Given the description of an element on the screen output the (x, y) to click on. 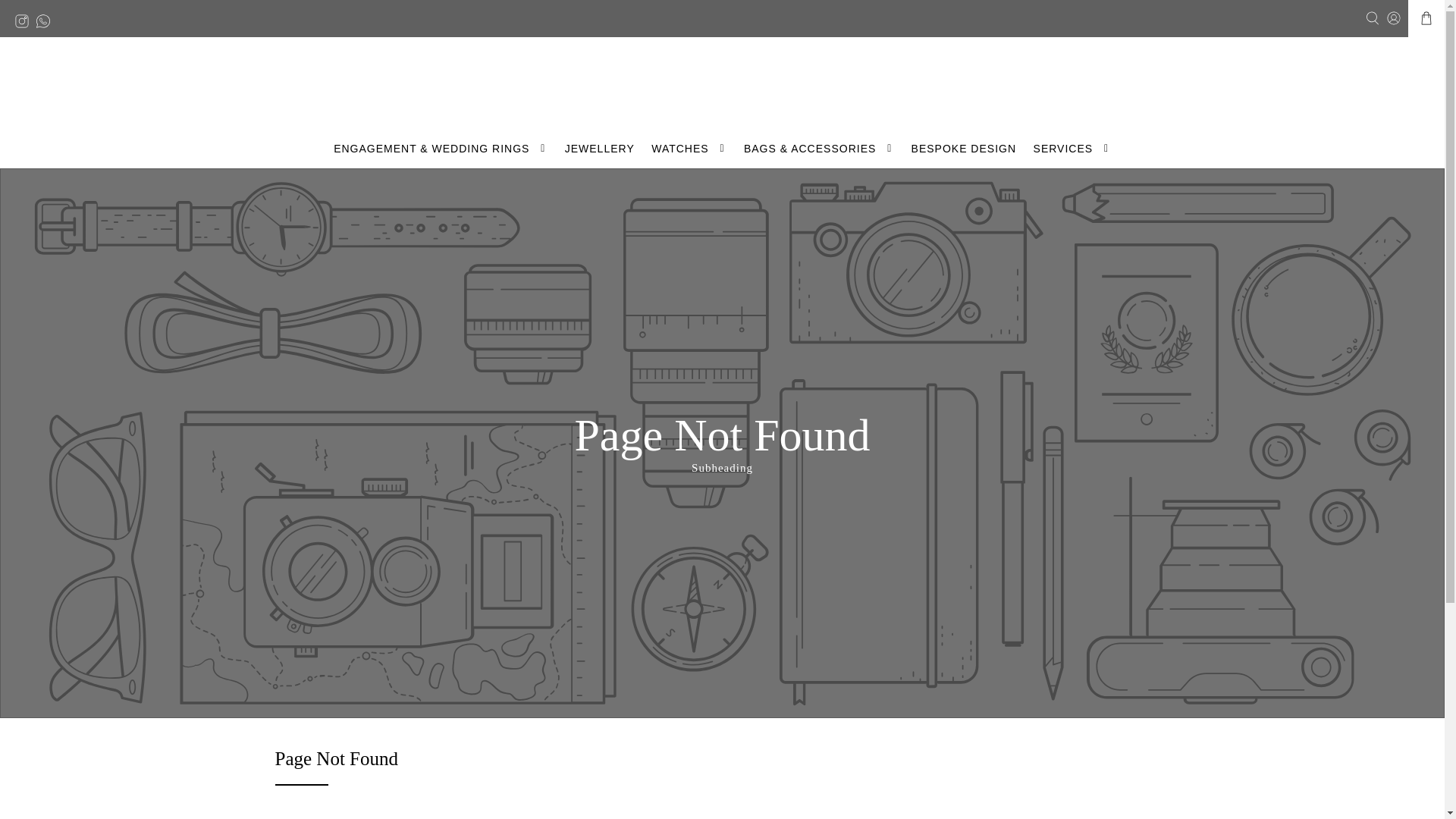
WATCHES (689, 148)
JEWELLERY (599, 148)
BESPOKE DESIGN (963, 148)
SERVICES (1072, 148)
